Given the description of an element on the screen output the (x, y) to click on. 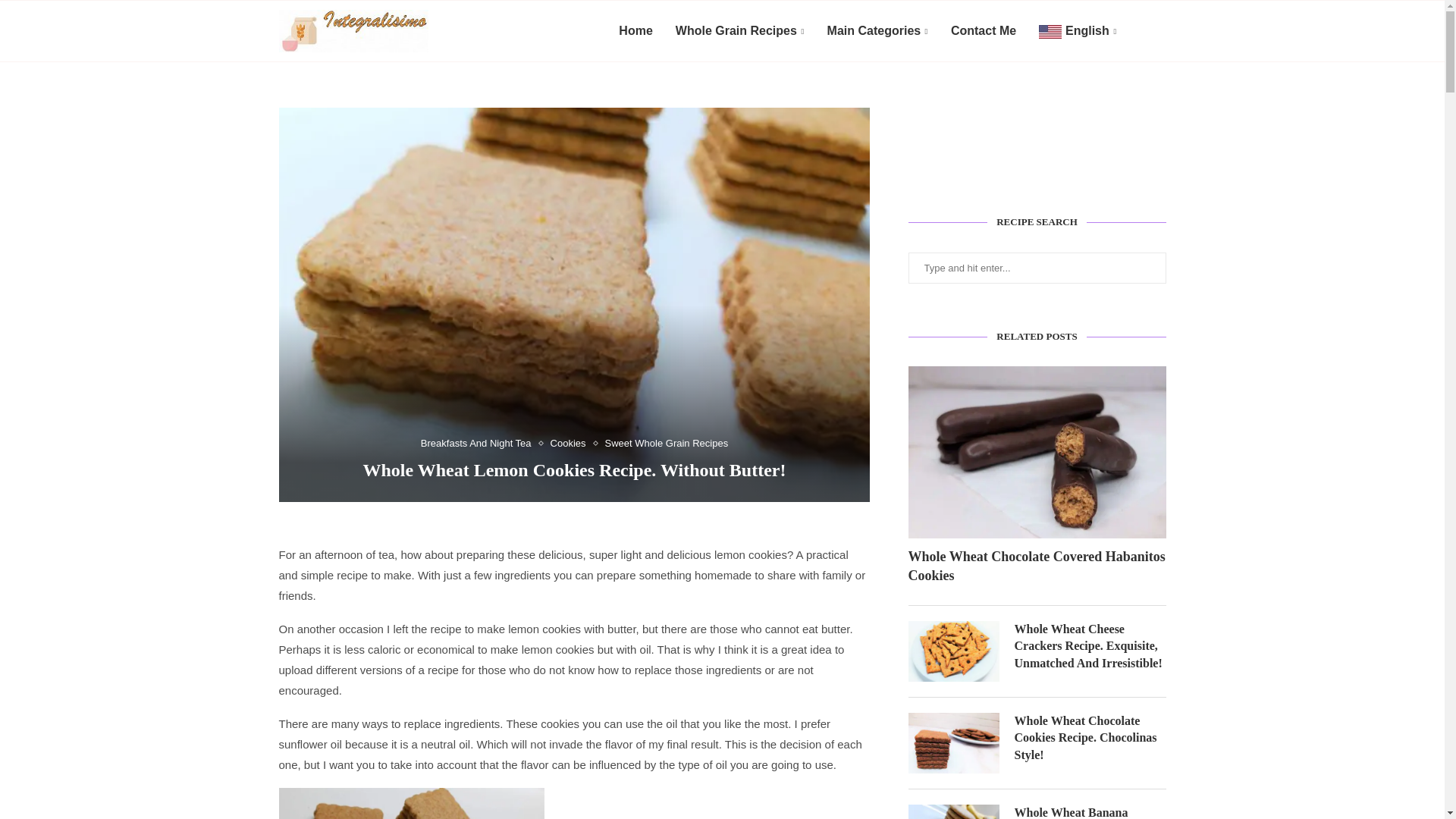
Whole Wheat Chocolate Covered Habanitos Cookies (1037, 452)
Main Categories (877, 31)
Cookies (572, 443)
English (1077, 31)
Whole Grain Recipes (740, 31)
Whole Wheat Chocolate Covered Habanitos Cookies (1037, 566)
Sweet Whole Grain Recipes (667, 443)
Contact Me (983, 30)
Breakfasts And Night Tea (479, 443)
English (1077, 31)
